Given the description of an element on the screen output the (x, y) to click on. 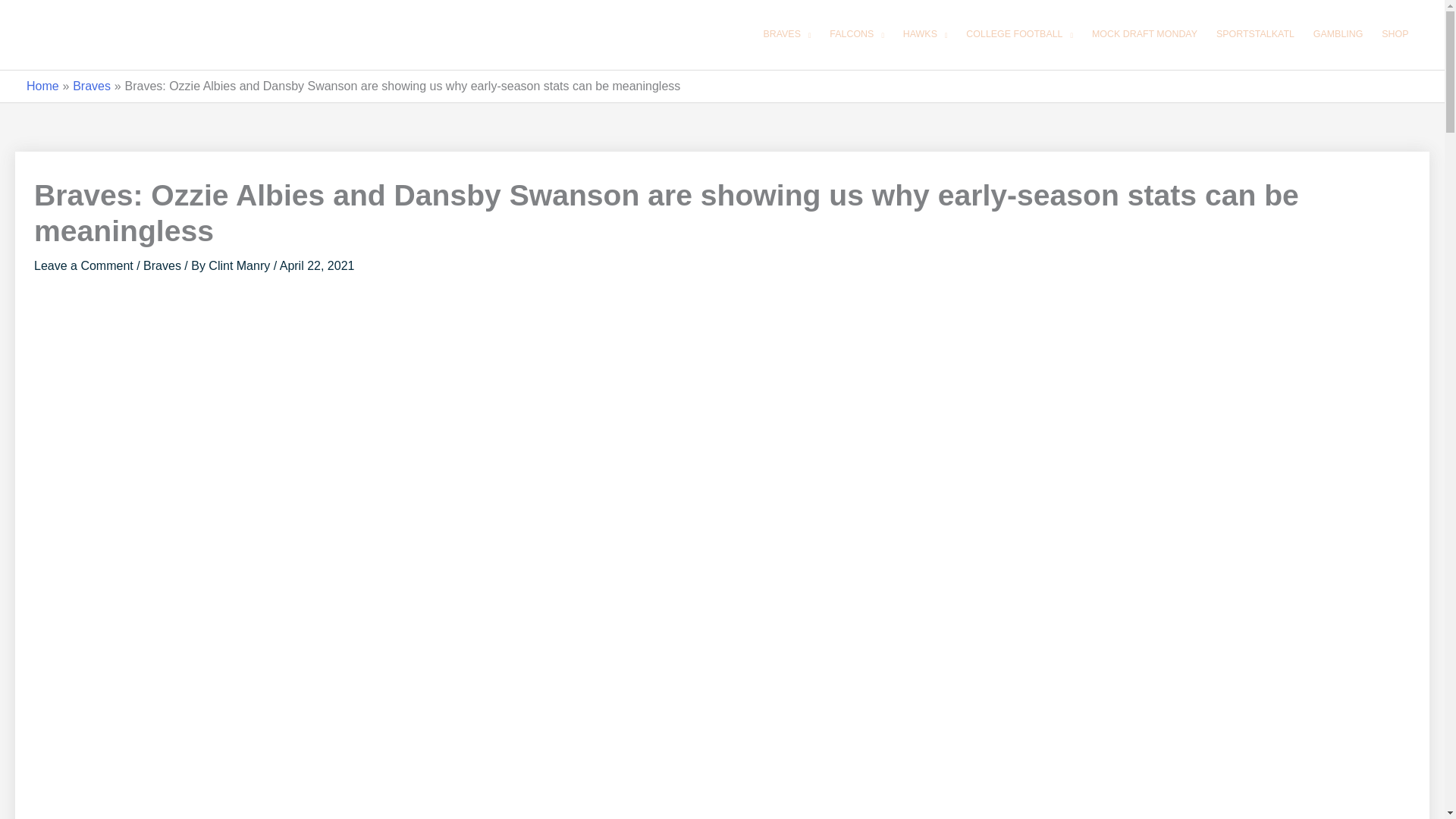
HAWKS (924, 34)
COLLEGE FOOTBALL (1019, 34)
BRAVES (787, 34)
SPORTSTALKATL (1255, 34)
MOCK DRAFT MONDAY (1144, 34)
FALCONS (857, 34)
GAMBLING (1338, 34)
View all posts by Clint Manry (240, 265)
